Given the description of an element on the screen output the (x, y) to click on. 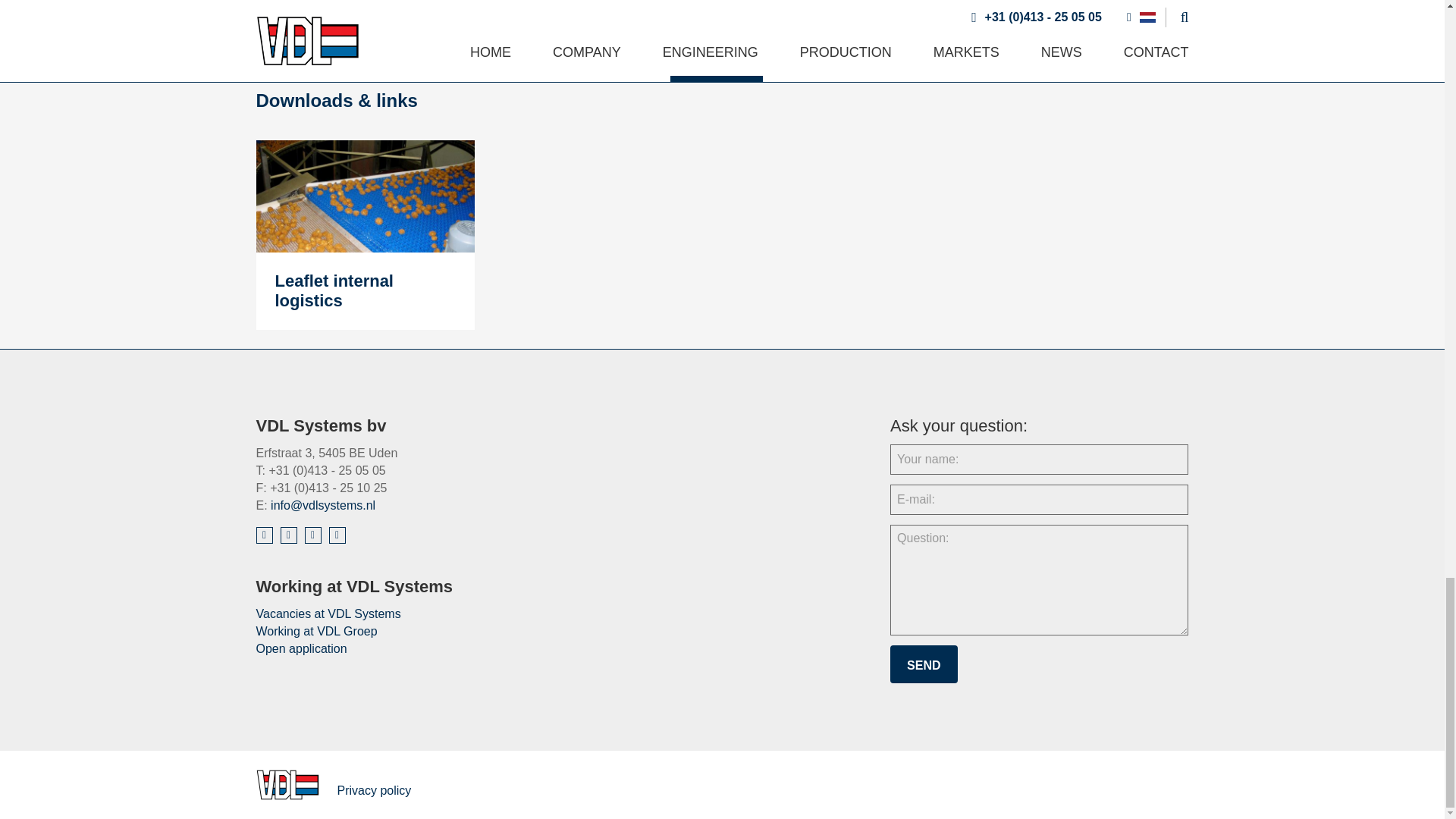
Send (922, 664)
